Given the description of an element on the screen output the (x, y) to click on. 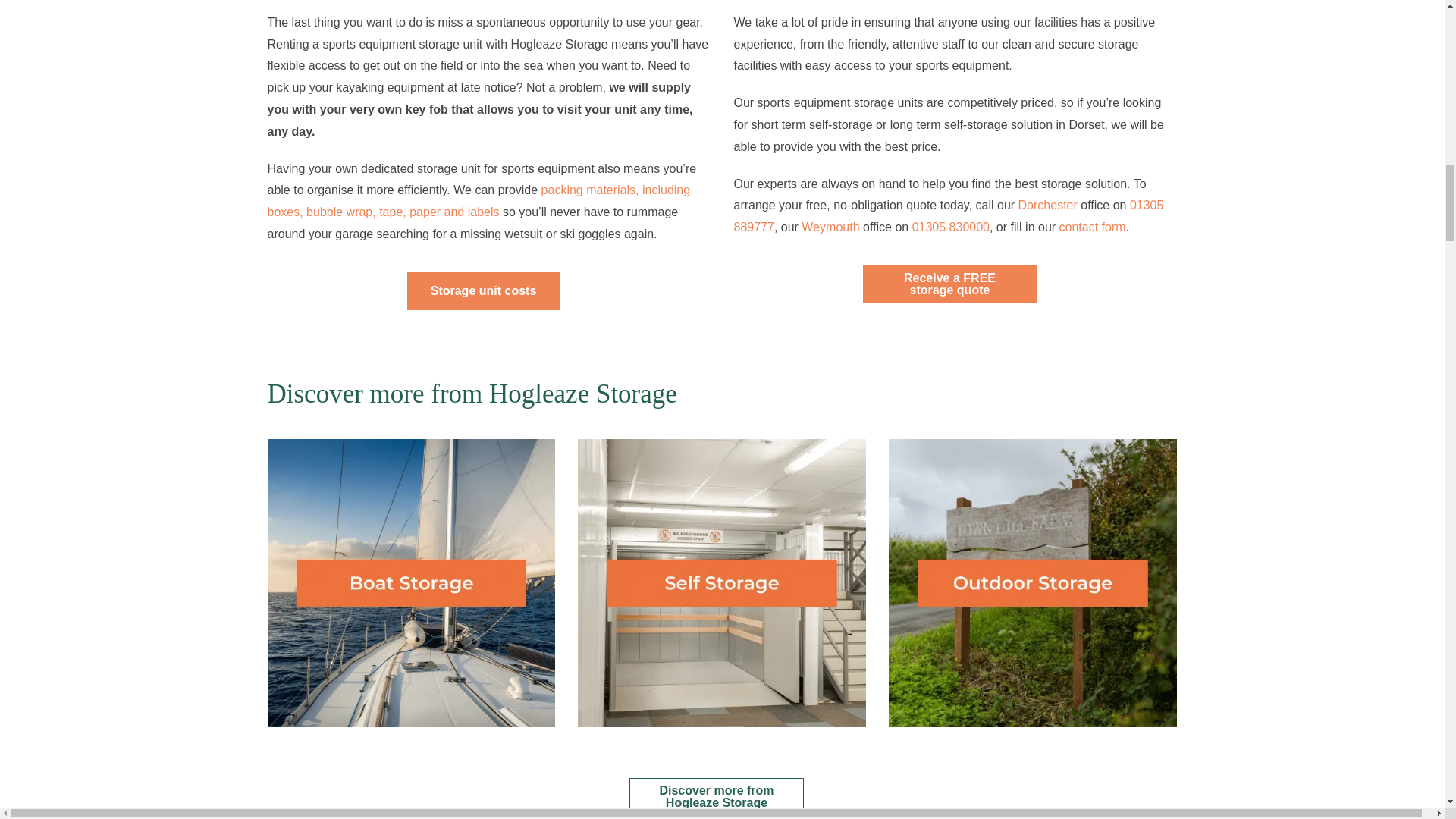
Contact (483, 290)
Contact (715, 796)
Contact (949, 284)
